Given the description of an element on the screen output the (x, y) to click on. 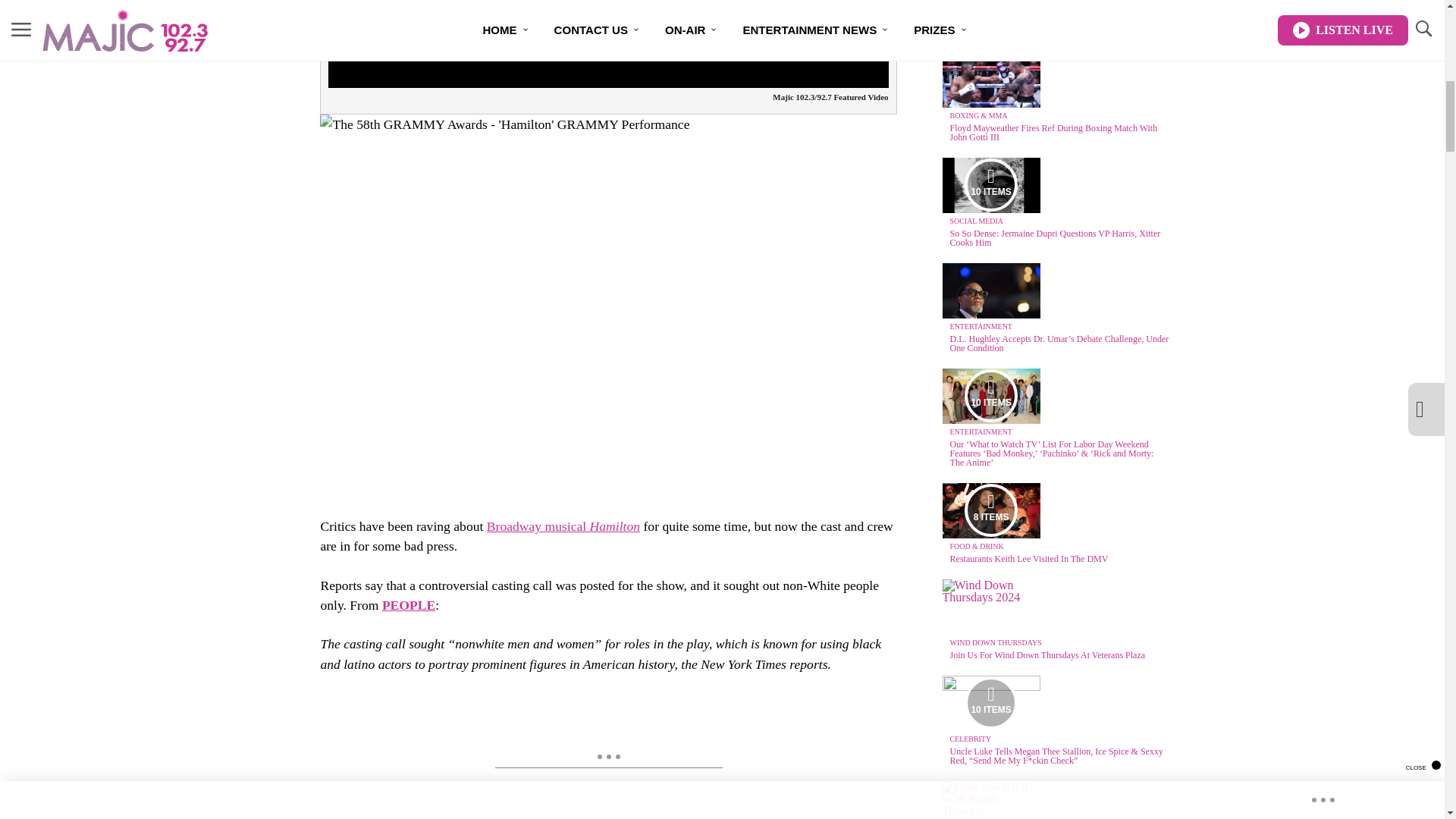
Media Playlist (990, 395)
Media Playlist (990, 510)
Media Playlist (990, 702)
Media Playlist (990, 184)
